Given the description of an element on the screen output the (x, y) to click on. 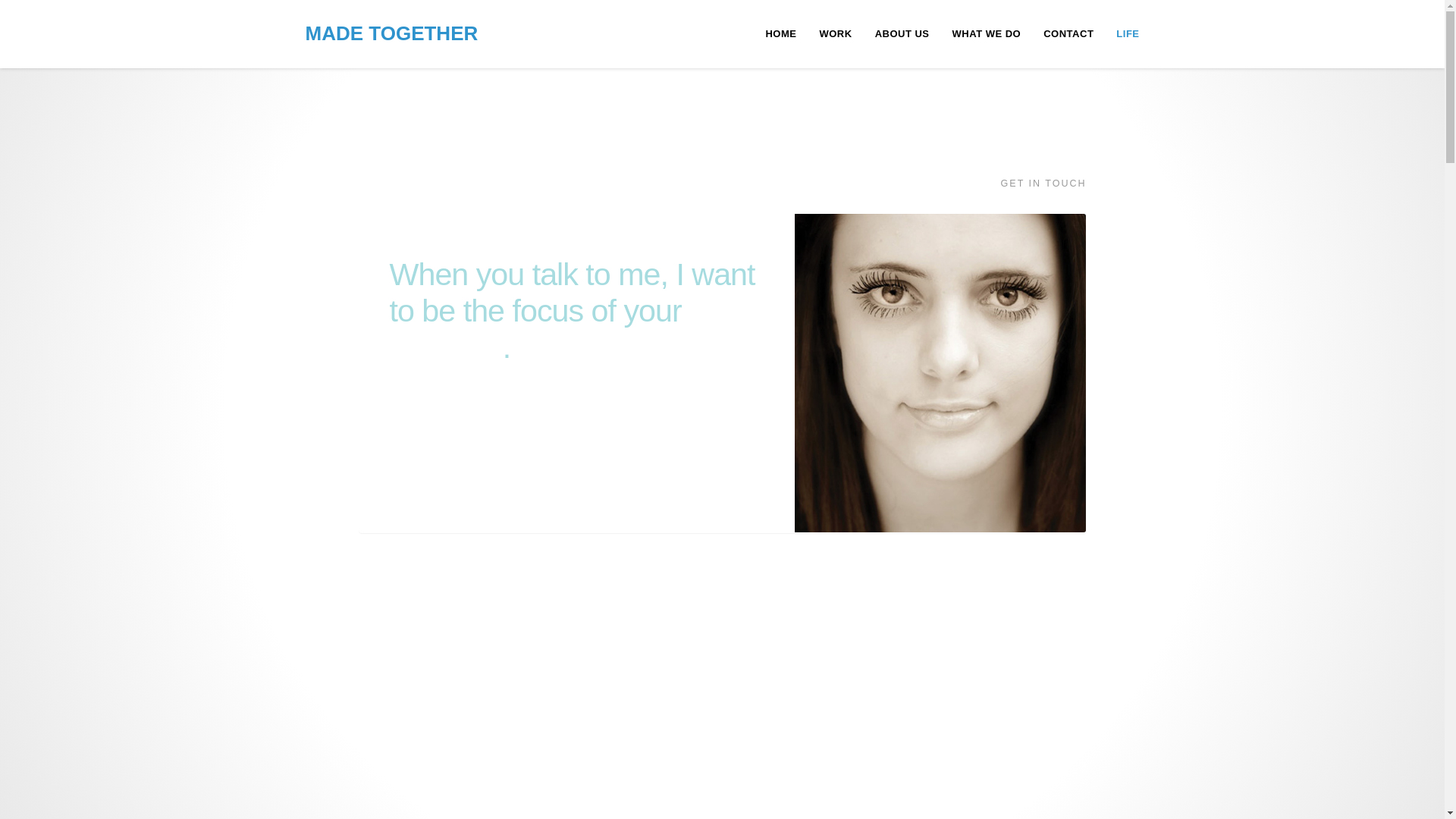
MADE TOGETHER (391, 26)
ABOUT US (901, 33)
LIFE (1127, 33)
GET IN TOUCH (1043, 184)
Contact (1068, 33)
HOME (781, 33)
WORK (835, 33)
Home (781, 33)
CONTACT (1068, 33)
WHAT WE DO (986, 33)
What we do (986, 33)
About Us (901, 33)
Work (835, 33)
Life (1127, 33)
